Given the description of an element on the screen output the (x, y) to click on. 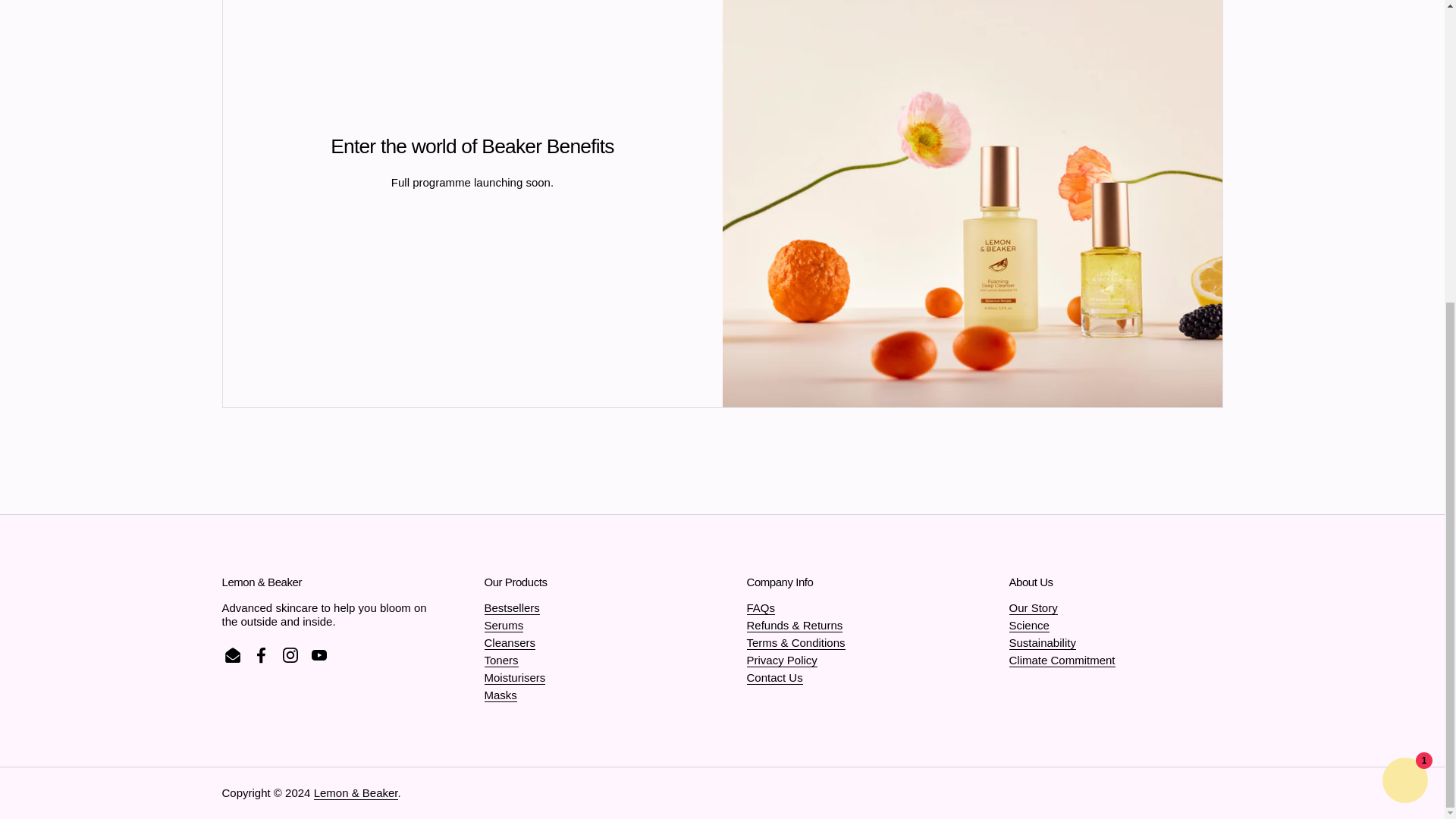
Shopify online store chat (1404, 309)
